Given the description of an element on the screen output the (x, y) to click on. 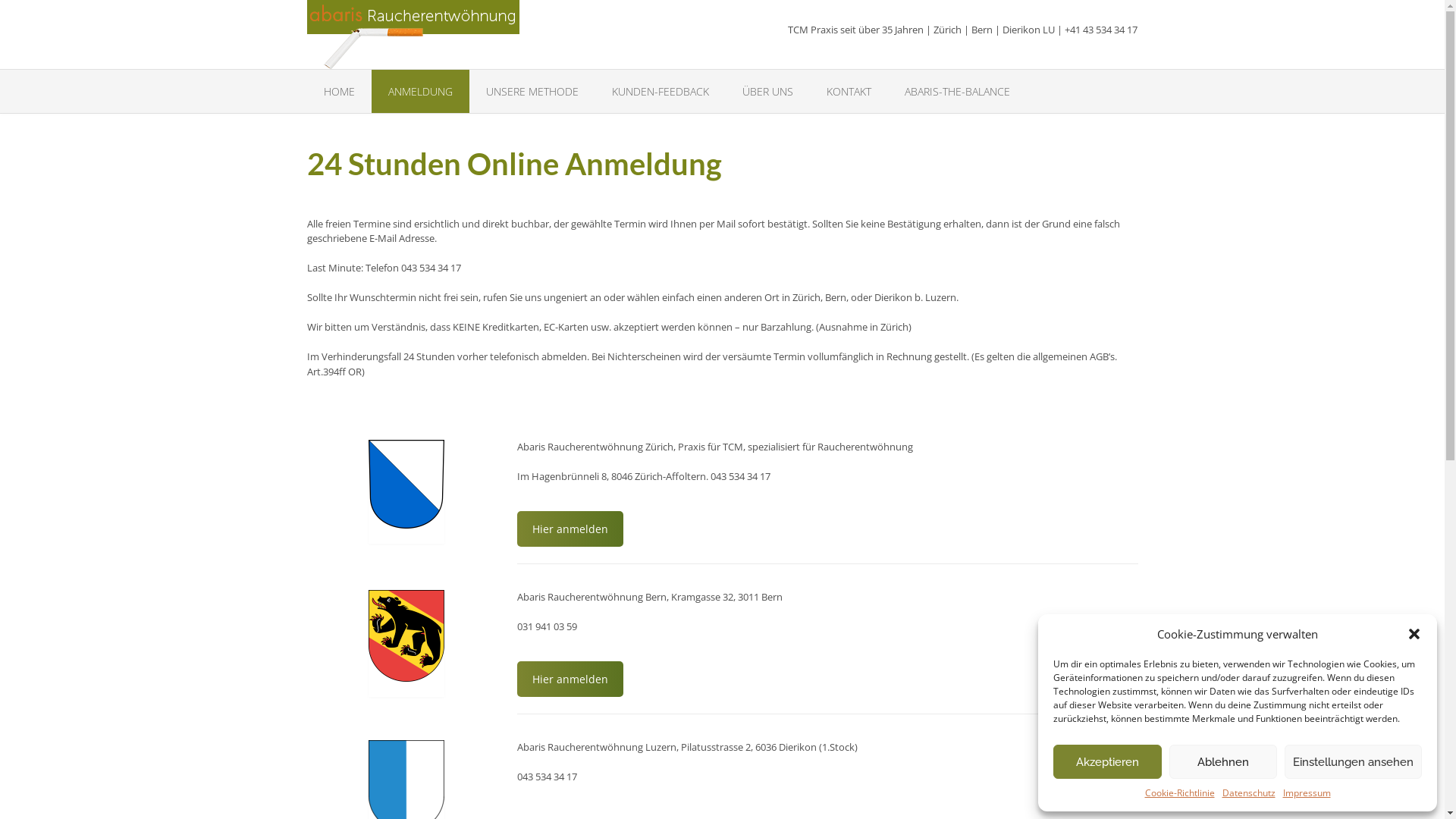
UNSERE METHODE Element type: text (531, 90)
Einstellungen ansehen Element type: text (1352, 761)
Hier anmelden Element type: text (570, 528)
Cookie-Richtlinie Element type: text (1179, 793)
Hier anmelden Element type: text (570, 678)
ABARIS-THE-BALANCE Element type: text (956, 90)
HOME Element type: text (338, 90)
ANMELDUNG Element type: text (420, 90)
Impressum Element type: text (1306, 793)
Akzeptieren Element type: text (1107, 761)
Datenschutz Element type: text (1248, 793)
KONTAKT Element type: text (848, 90)
Ablehnen Element type: text (1223, 761)
Wappen_Bern_matt.svg Element type: hover (406, 635)
KUNDEN-FEEDBACK Element type: text (659, 90)
